Given the description of an element on the screen output the (x, y) to click on. 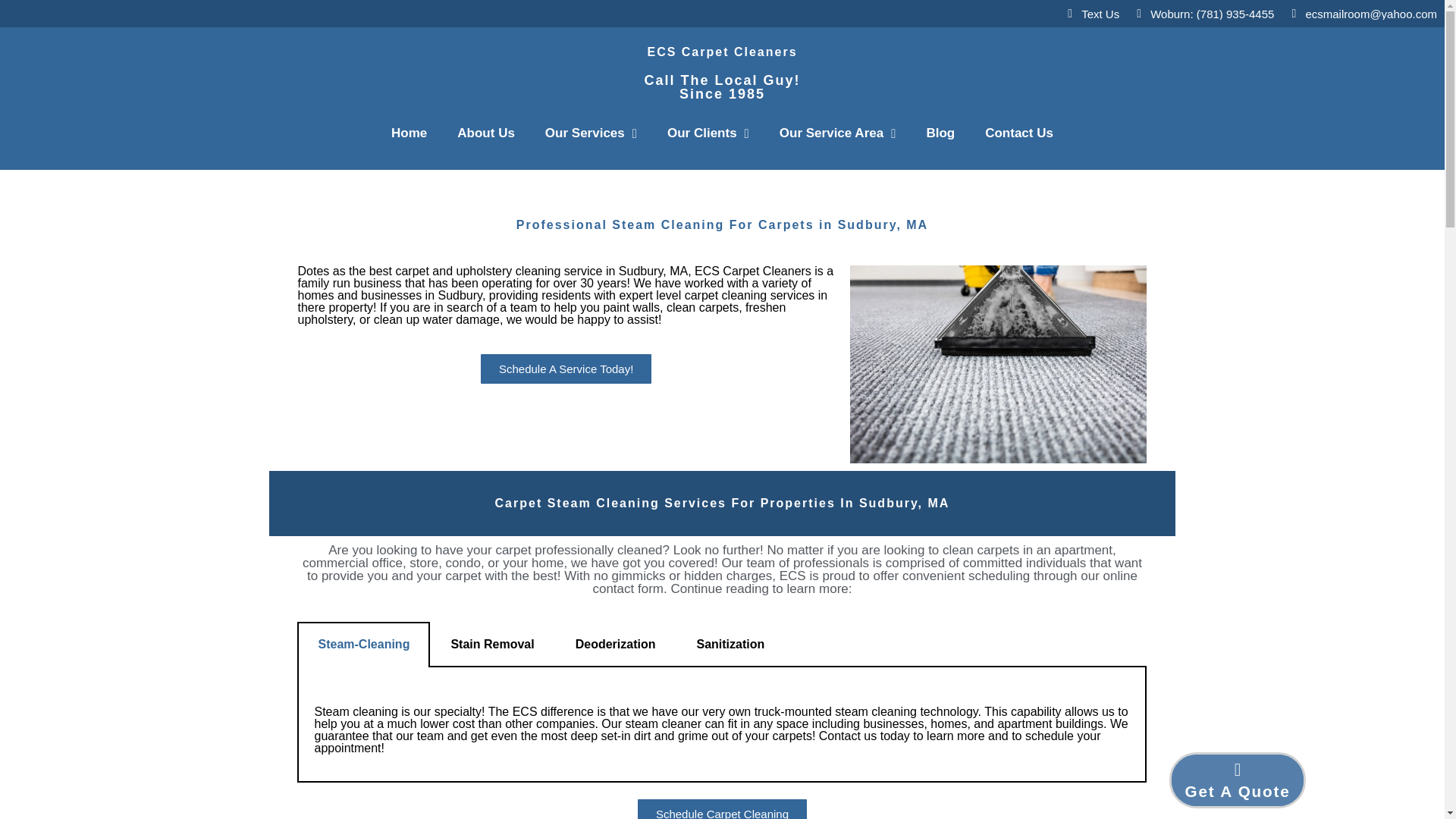
Our Service Area (837, 133)
About Us (485, 133)
Our Clients (708, 133)
Text Us (1090, 13)
ECS Carpet Cleaners (721, 51)
Home (408, 133)
Our Services (590, 133)
